Given the description of an element on the screen output the (x, y) to click on. 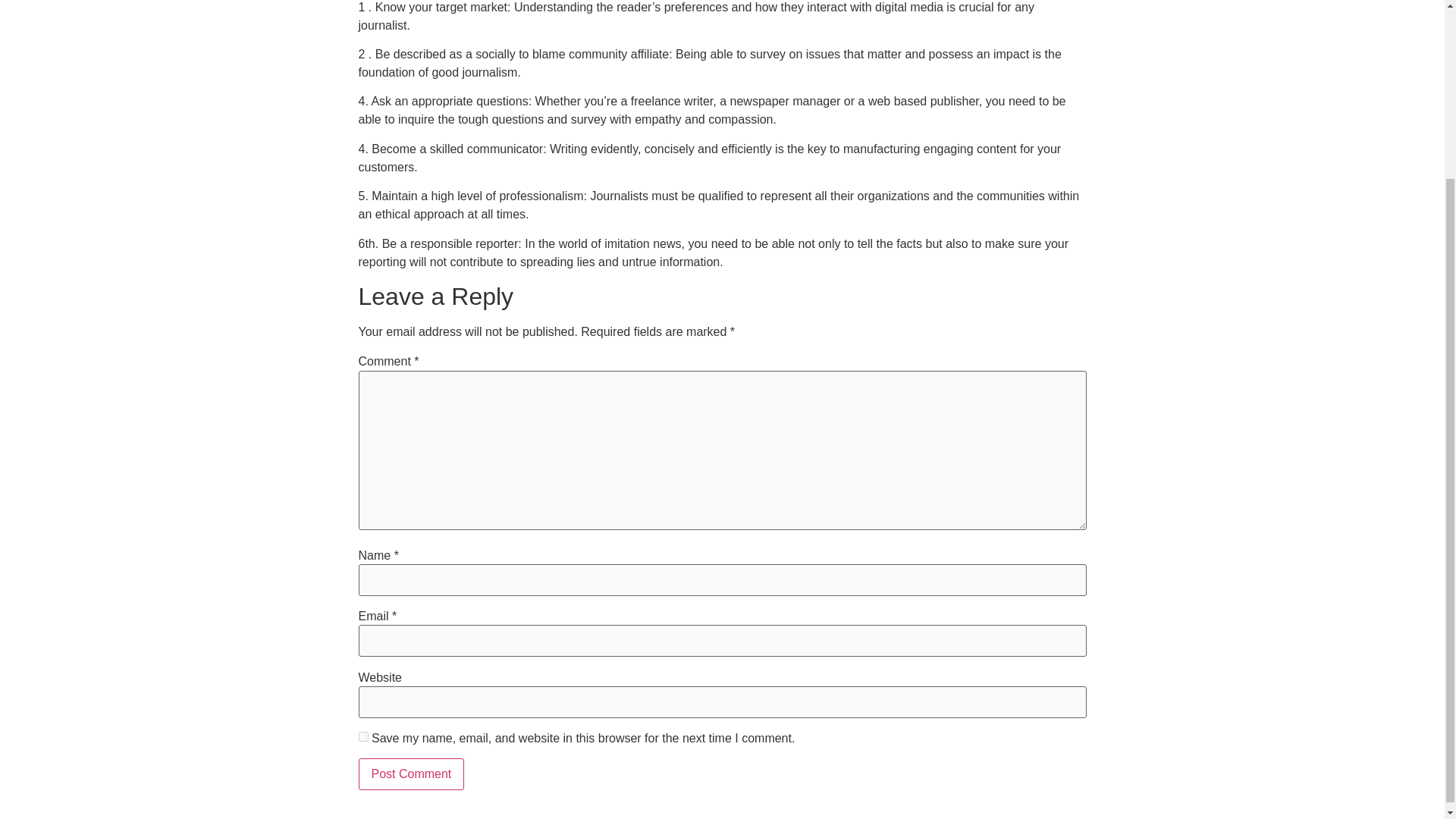
yes (363, 737)
Post Comment (411, 774)
Post Comment (411, 774)
